Given the description of an element on the screen output the (x, y) to click on. 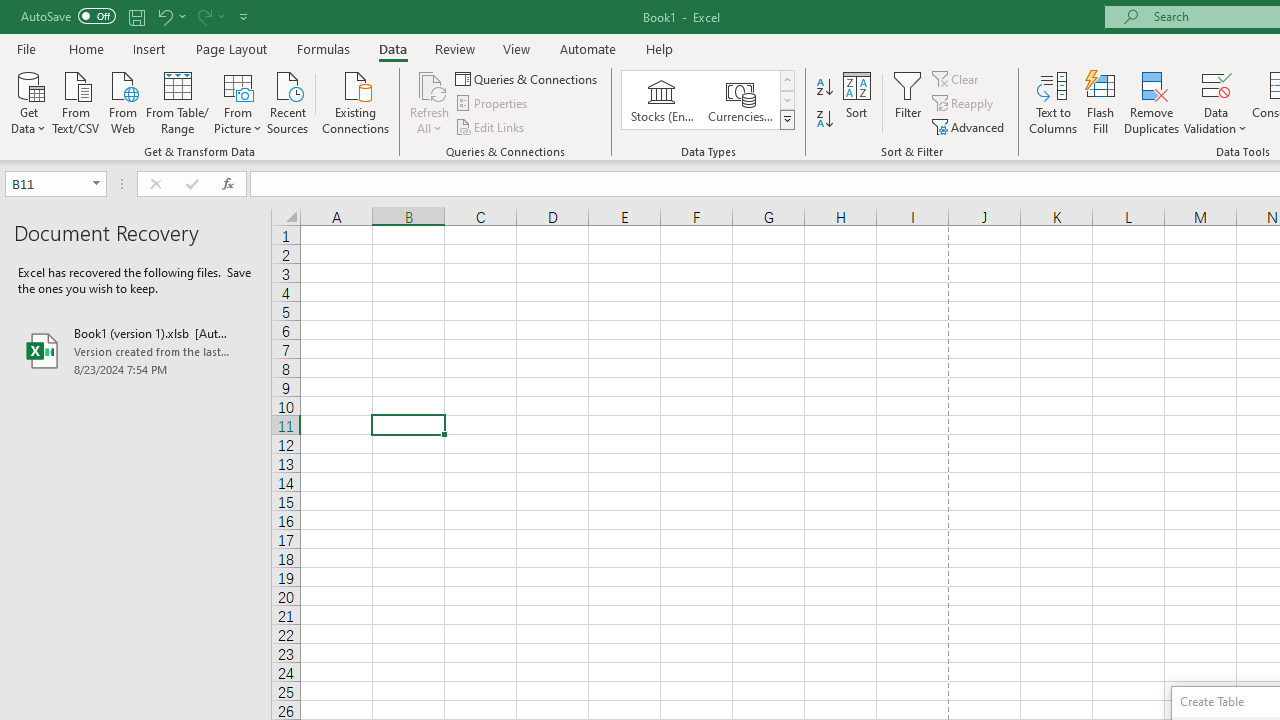
Data Types (786, 120)
Reapply (964, 103)
Row Down (786, 100)
Sort A to Z (824, 87)
Advanced... (970, 126)
Recent Sources (287, 101)
Currencies (English) (740, 100)
